Given the description of an element on the screen output the (x, y) to click on. 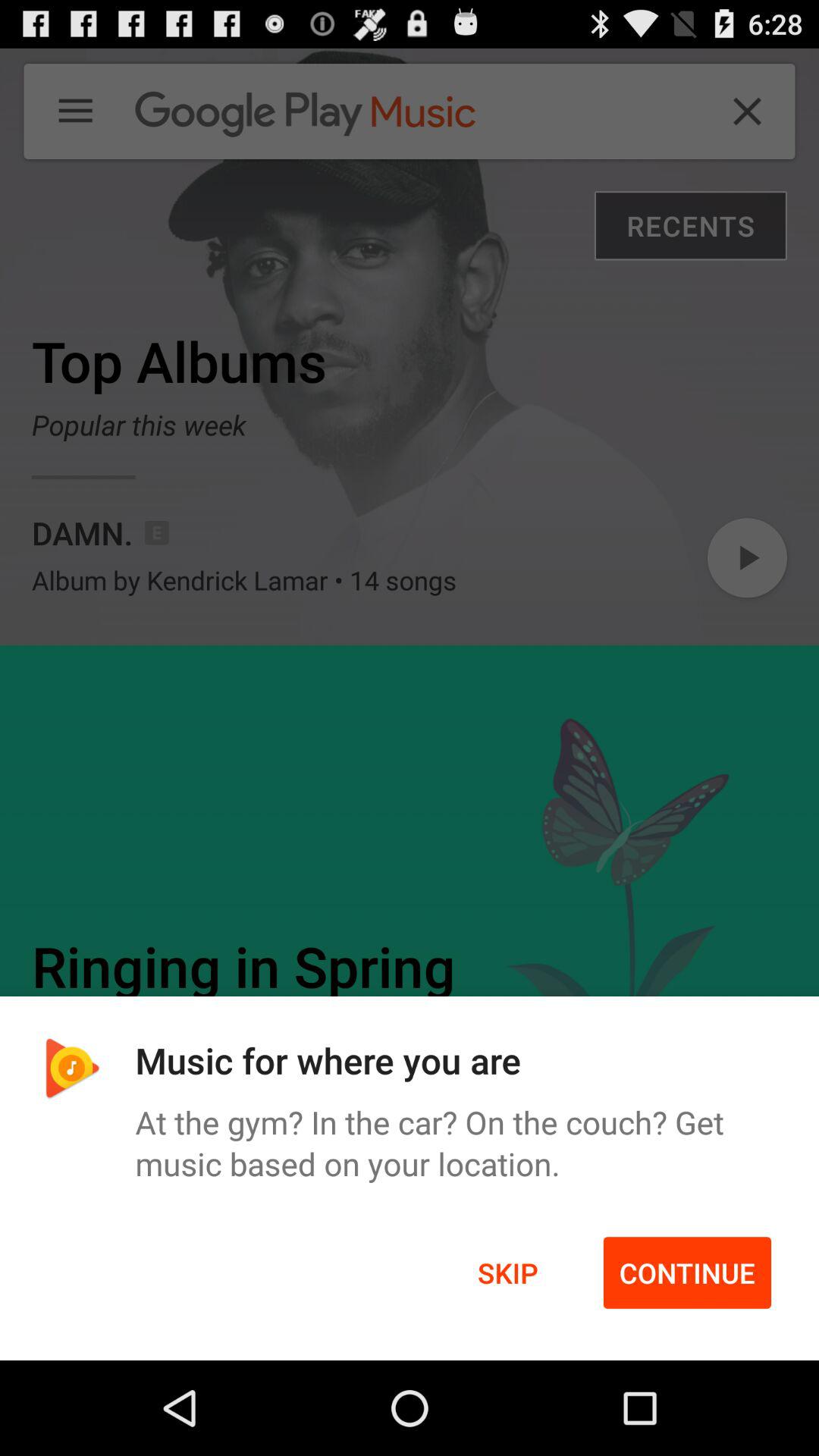
press the item below at the gym (507, 1272)
